Given the description of an element on the screen output the (x, y) to click on. 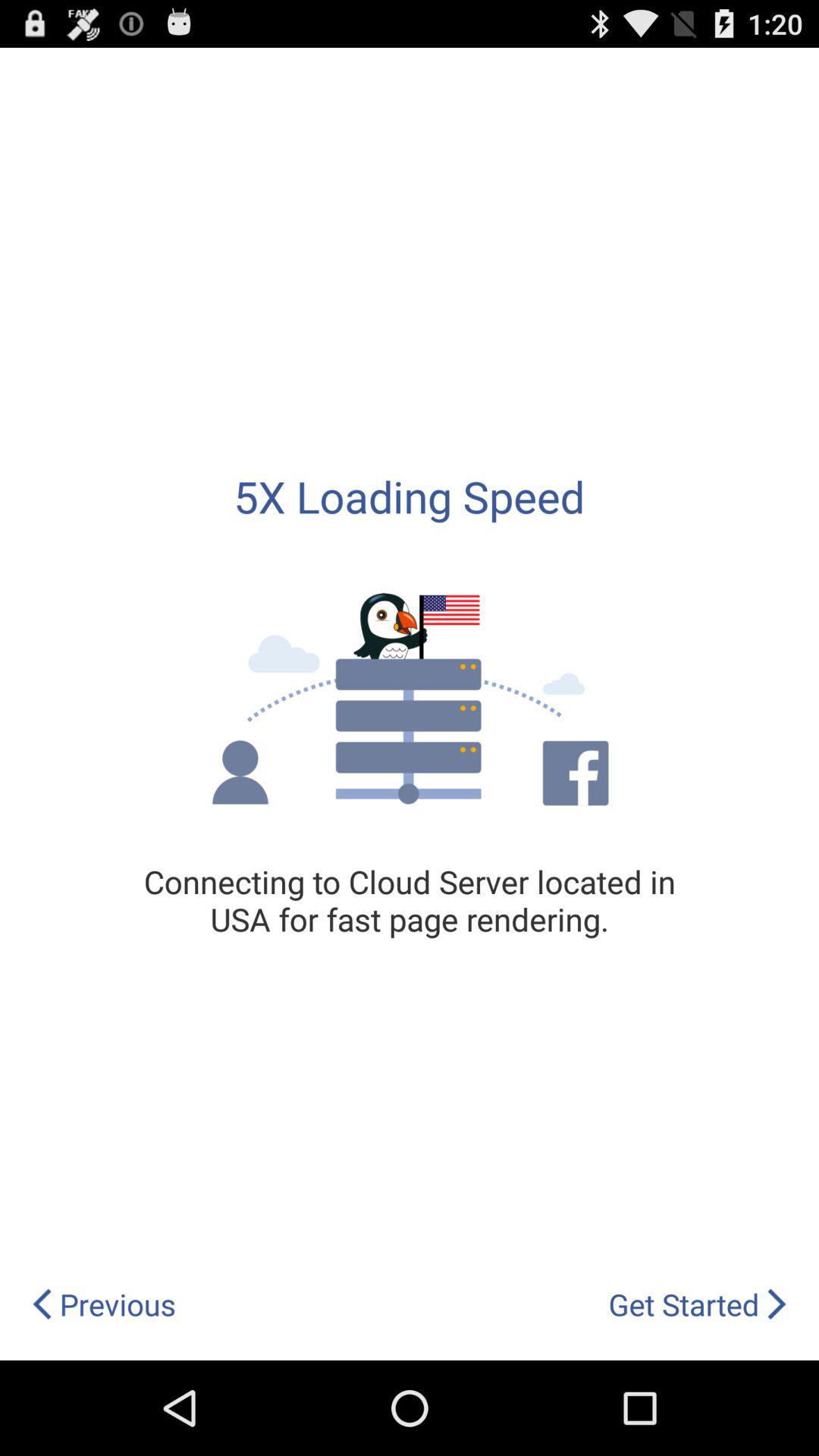
open the app at the bottom right corner (697, 1304)
